Given the description of an element on the screen output the (x, y) to click on. 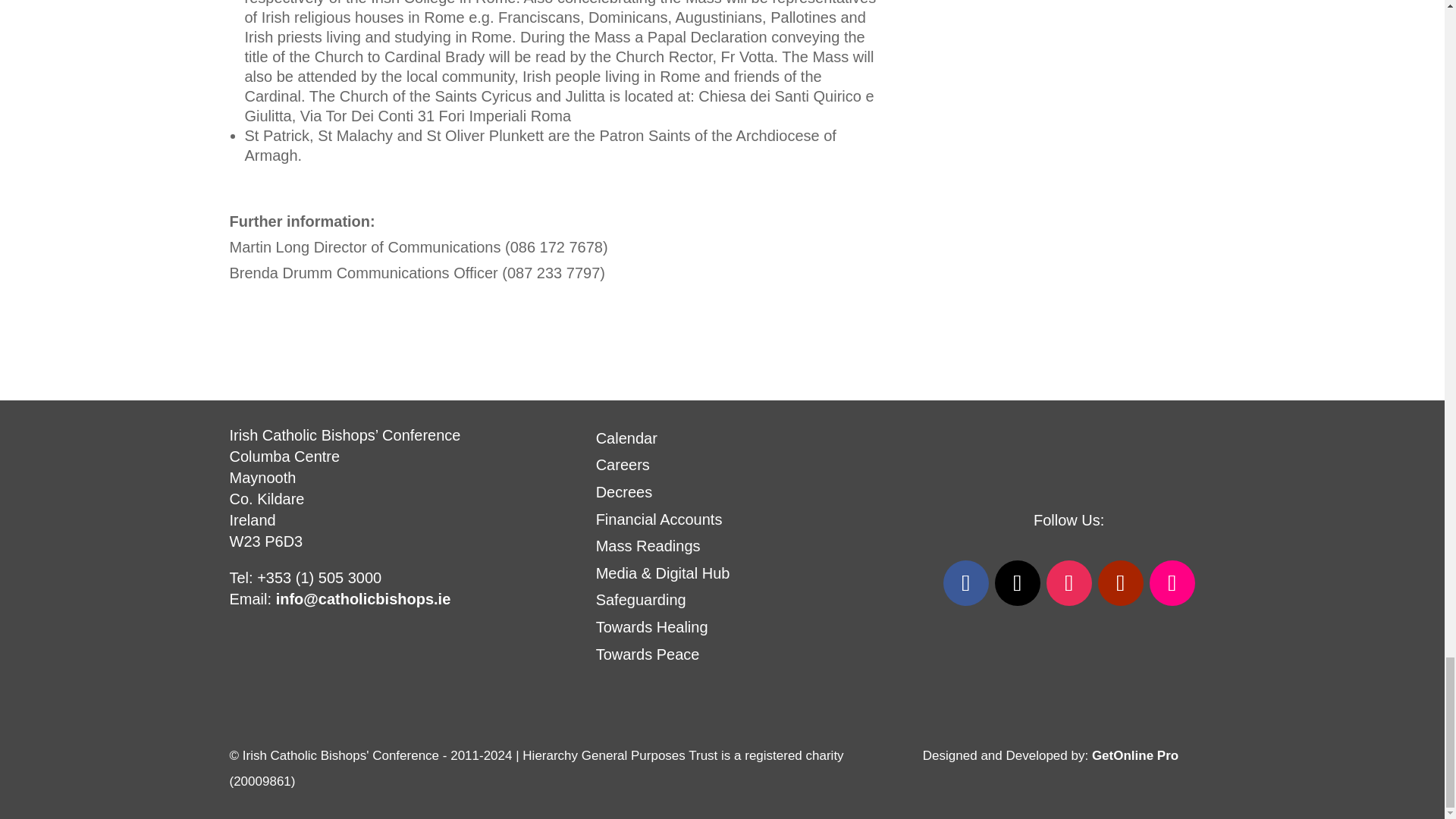
Follow on Facebook (965, 583)
Follow on Instagram (1069, 583)
Follow on Flickr (1172, 583)
Follow on X (1017, 583)
Follow on Youtube (1119, 583)
